Given the description of an element on the screen output the (x, y) to click on. 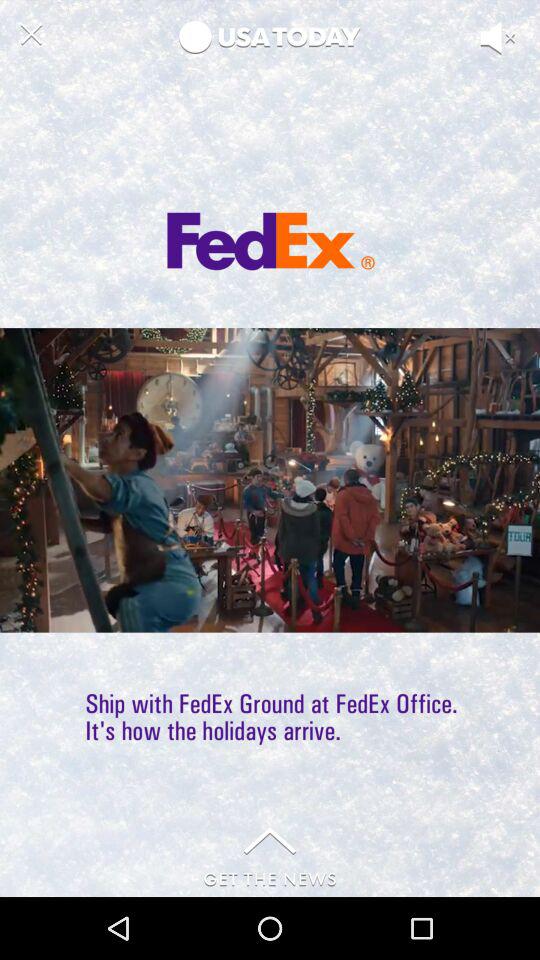
click the speaker button which is on the top right hand side (514, 68)
